Given the description of an element on the screen output the (x, y) to click on. 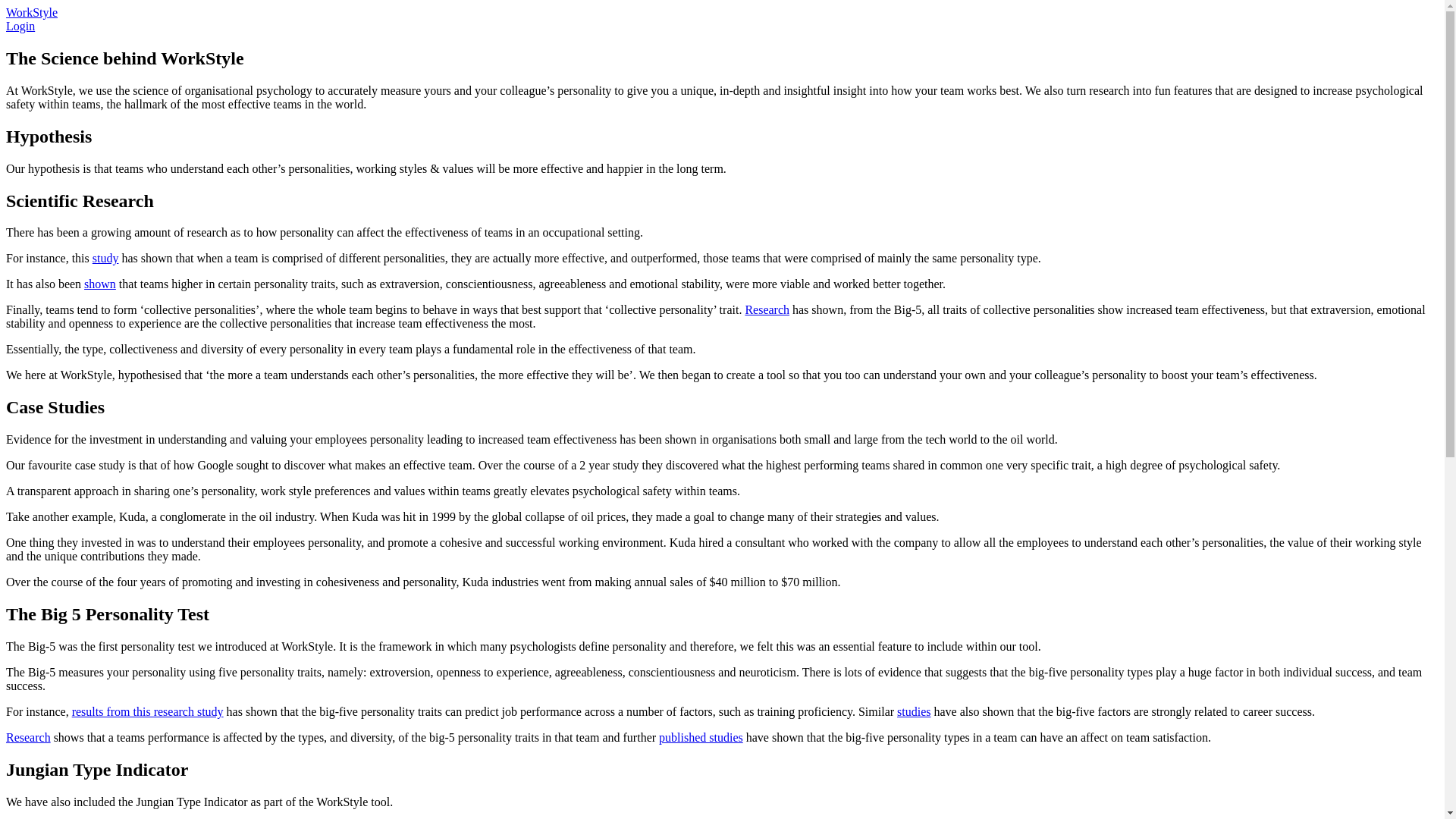
WorkStyle (31, 11)
Research (27, 737)
shown (100, 283)
Login (19, 25)
Login (19, 25)
study (106, 257)
WorkStyle (31, 11)
Research (766, 309)
studies (913, 711)
results from this research study (147, 711)
published studies (700, 737)
